Given the description of an element on the screen output the (x, y) to click on. 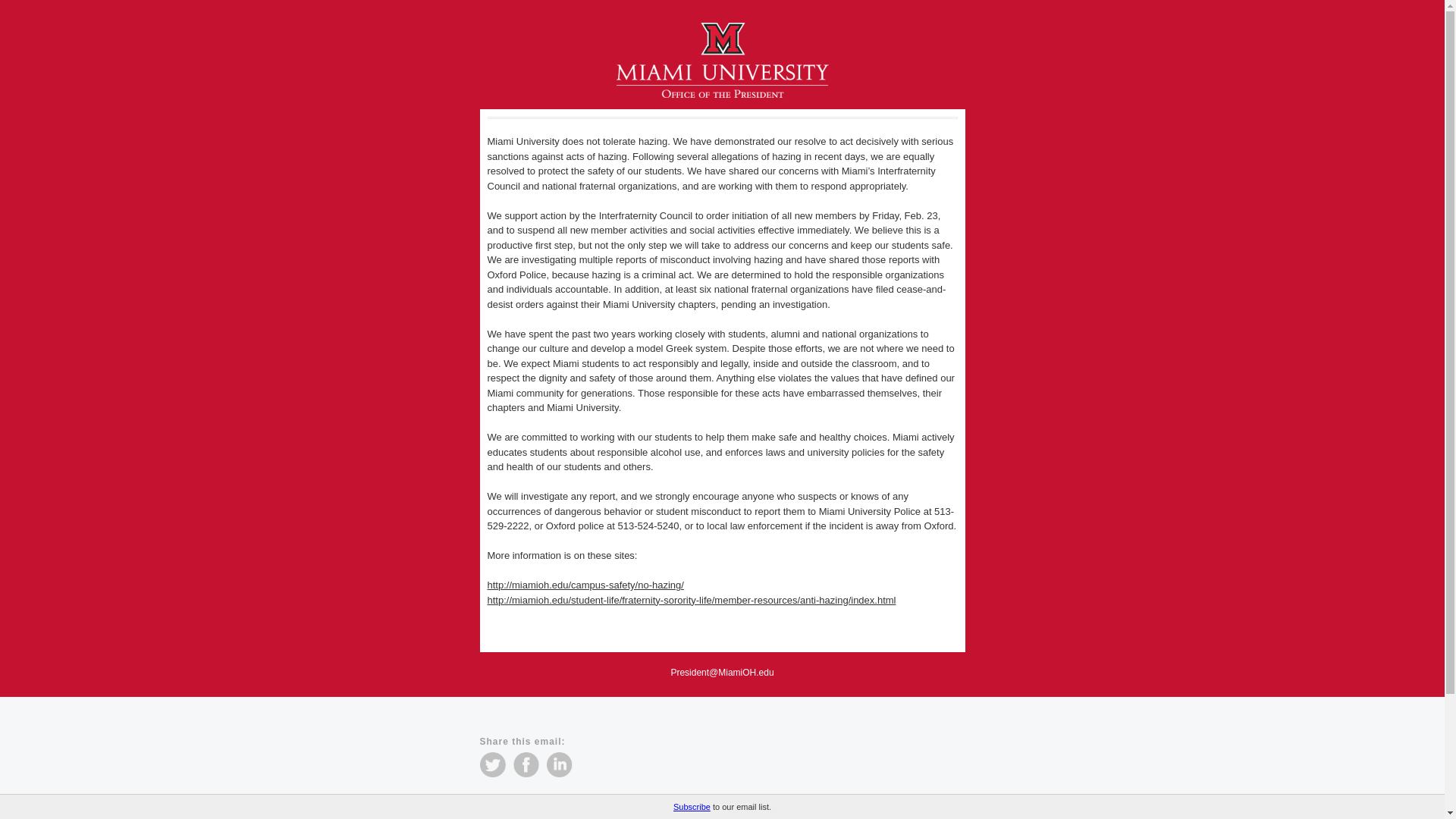
Manage (495, 798)
Opt out (596, 798)
Subscribe (691, 806)
Sign up (578, 814)
